Given the description of an element on the screen output the (x, y) to click on. 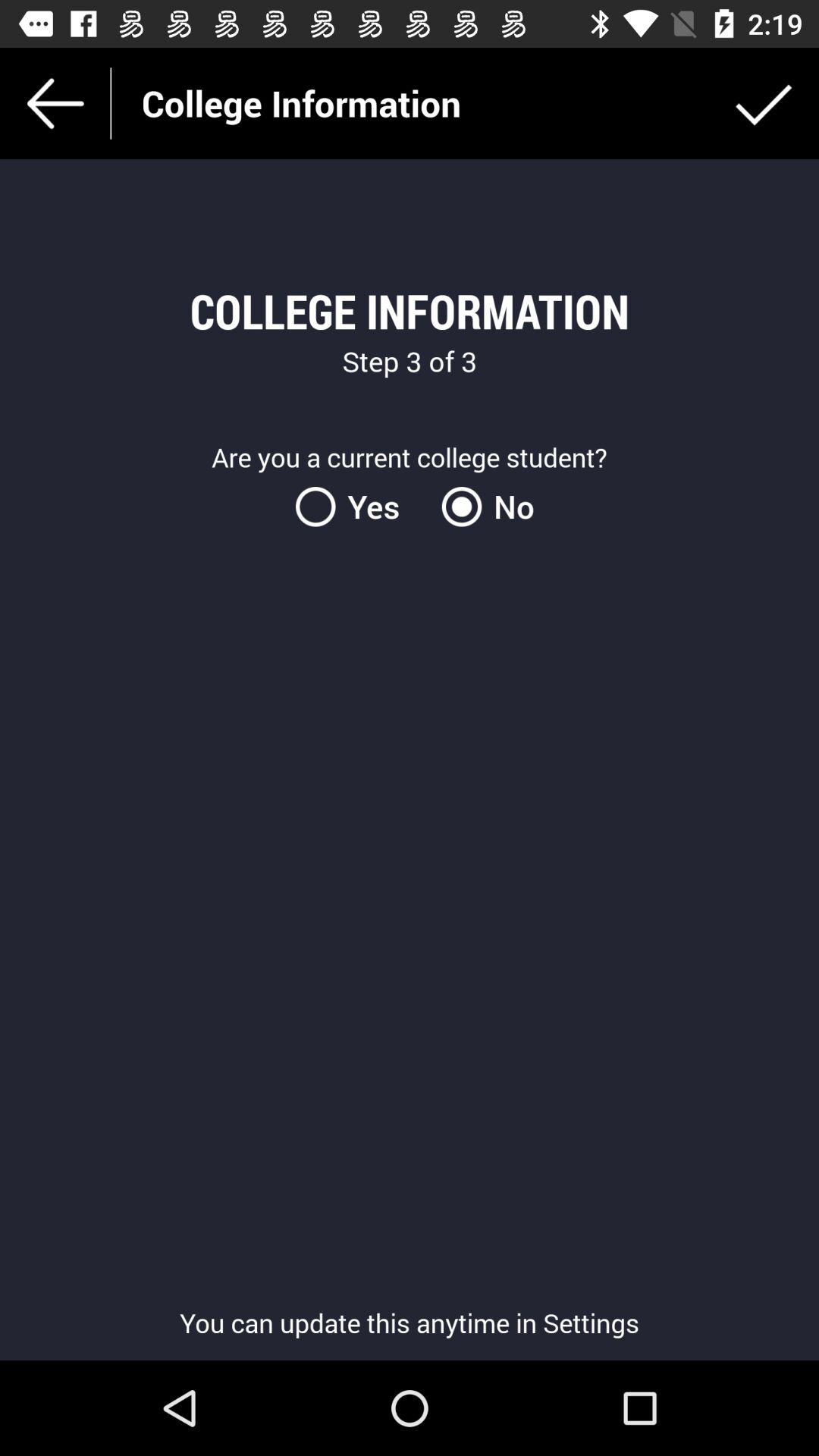
tap the item next to the yes (481, 506)
